Given the description of an element on the screen output the (x, y) to click on. 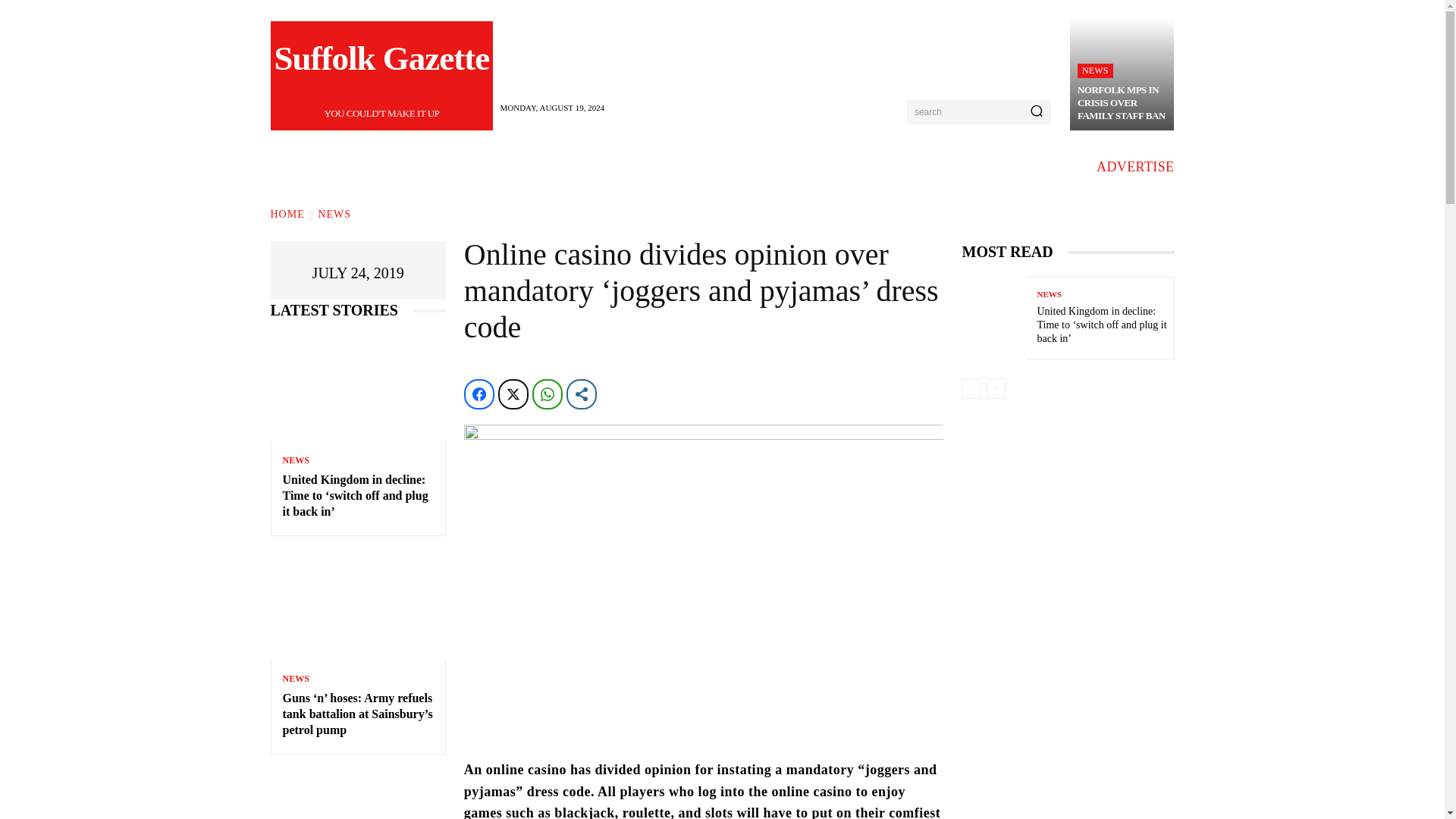
NORFOLK MPS IN CRISIS OVER FAMILY STAFF BAN (1121, 102)
Norfolk MPs in crisis over family staff ban (1122, 74)
Norfolk MPs in crisis over family staff ban (1121, 102)
HOME (382, 76)
ADVERTISE (286, 214)
View all posts in News (1135, 166)
NEWS (333, 214)
